Given the description of an element on the screen output the (x, y) to click on. 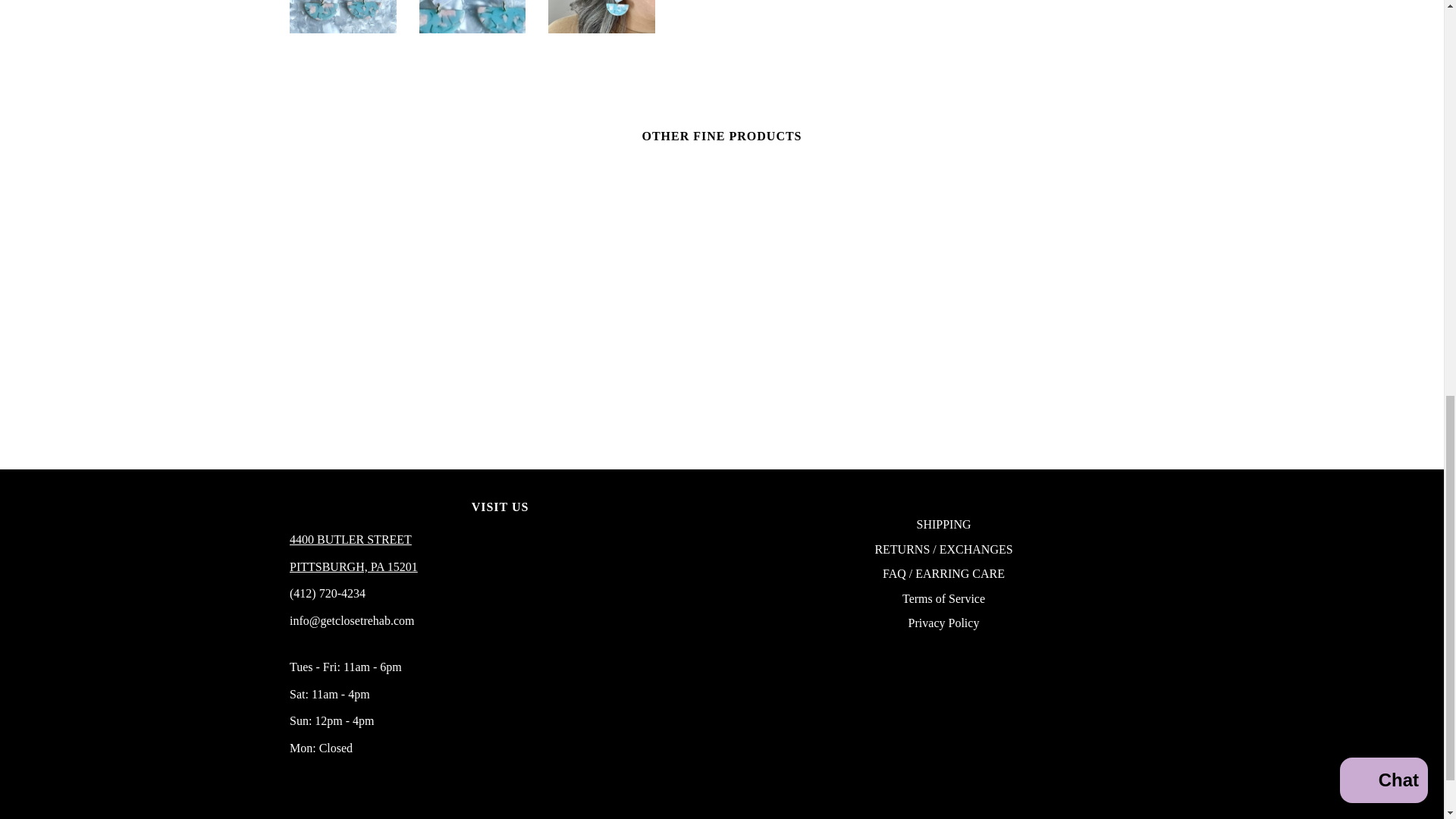
4400 BUTLER STREE PITTSBURGH, PA 15201 (353, 566)
4400 BUTLER STREE PITTSBURGH, PA 15201 (350, 539)
Pendulum Drop Earrings in Lover (472, 16)
Pendulum Drop Earrings in Lover (601, 16)
Pendulum Drop Earrings in Lover (342, 16)
